Given the description of an element on the screen output the (x, y) to click on. 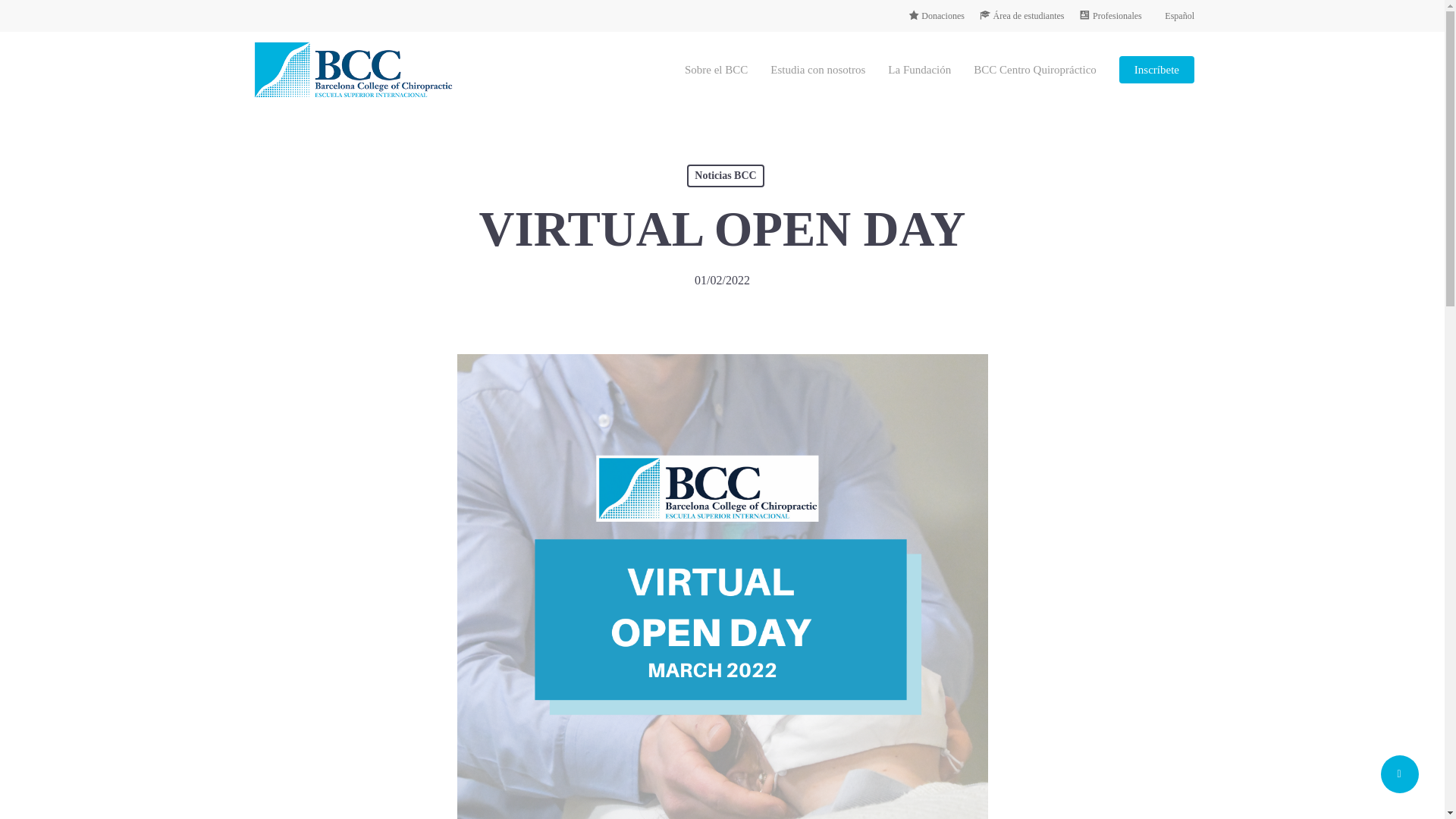
Donaciones (935, 15)
Estudia con nosotros (817, 69)
Noticias BCC (724, 175)
Profesionales (1109, 15)
Sobre el BCC (715, 69)
